Given the description of an element on the screen output the (x, y) to click on. 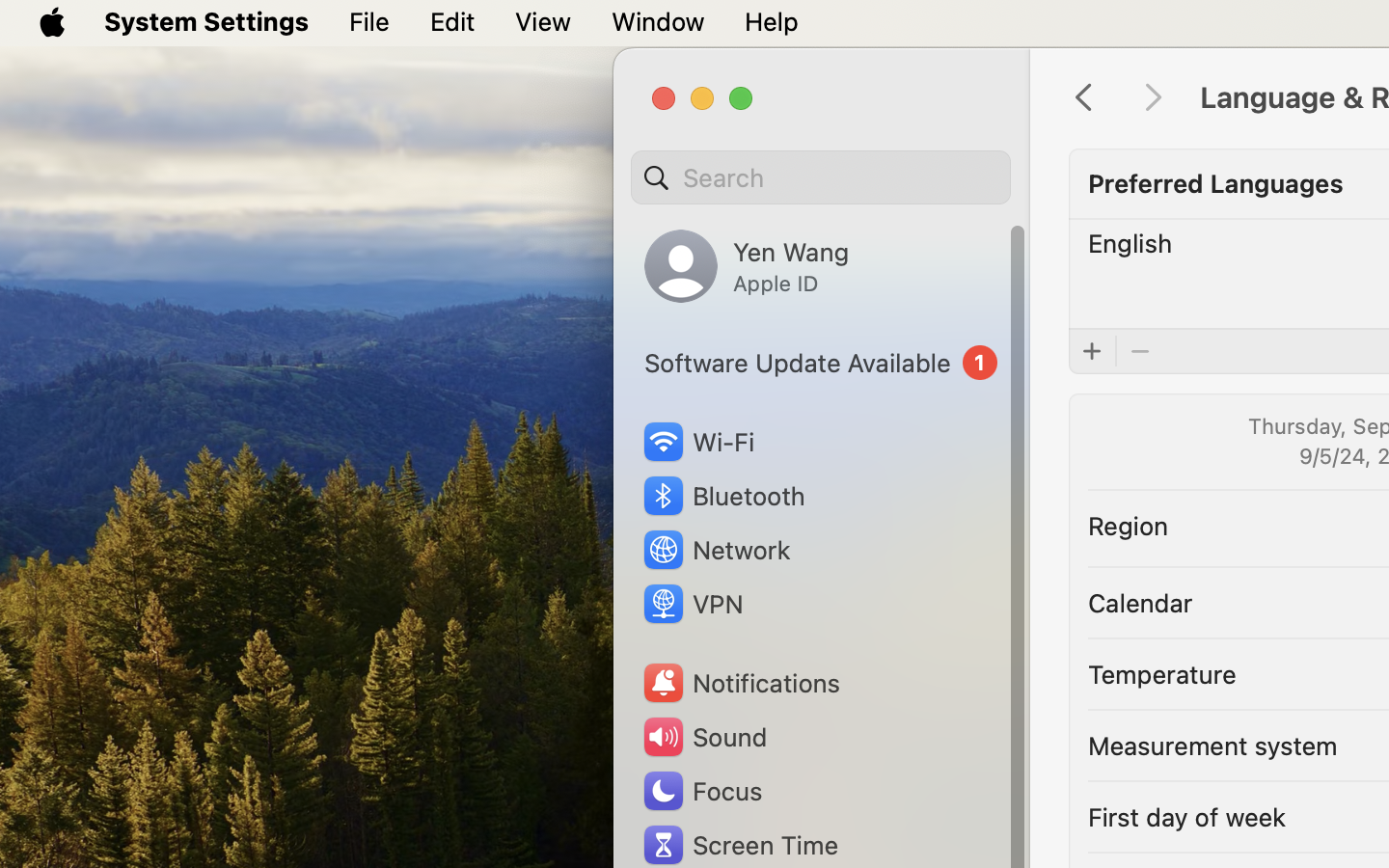
Temperature Element type: AXStaticText (1162, 672)
